Given the description of an element on the screen output the (x, y) to click on. 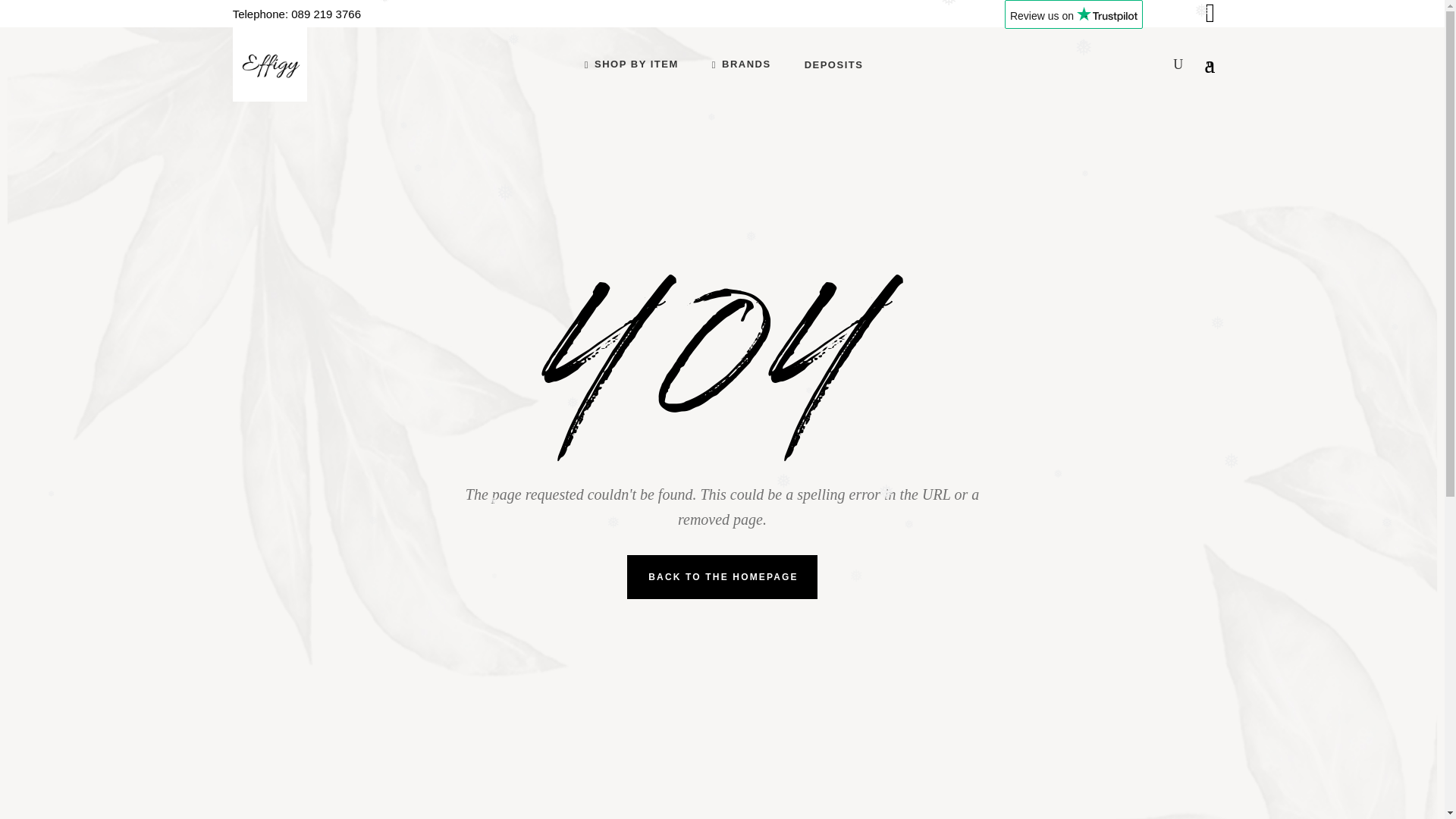
BRANDS (741, 64)
Customer reviews powered by Trustpilot (1073, 19)
SHOP BY ITEM (631, 64)
